Given the description of an element on the screen output the (x, y) to click on. 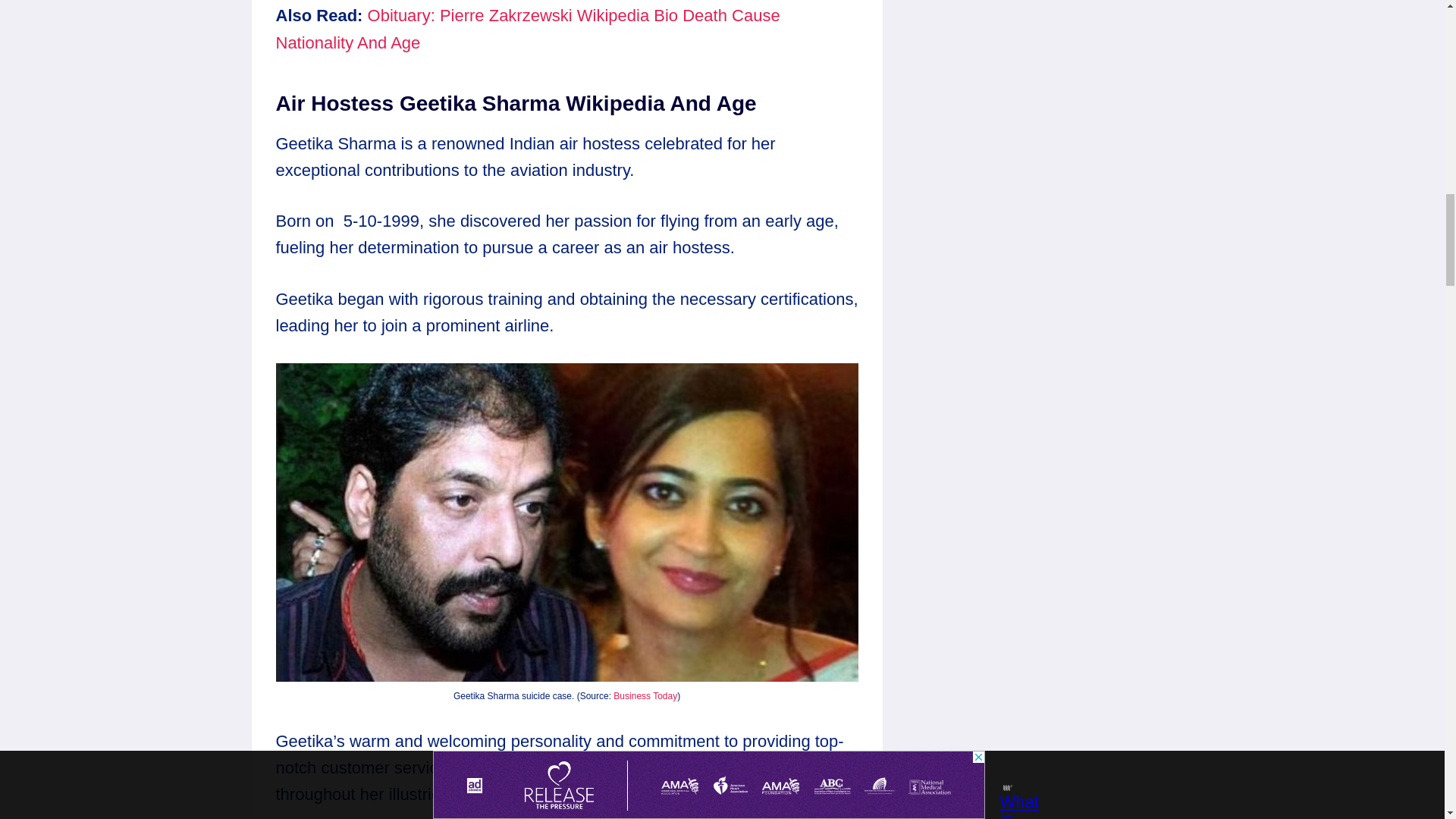
Business Today (644, 696)
